Given the description of an element on the screen output the (x, y) to click on. 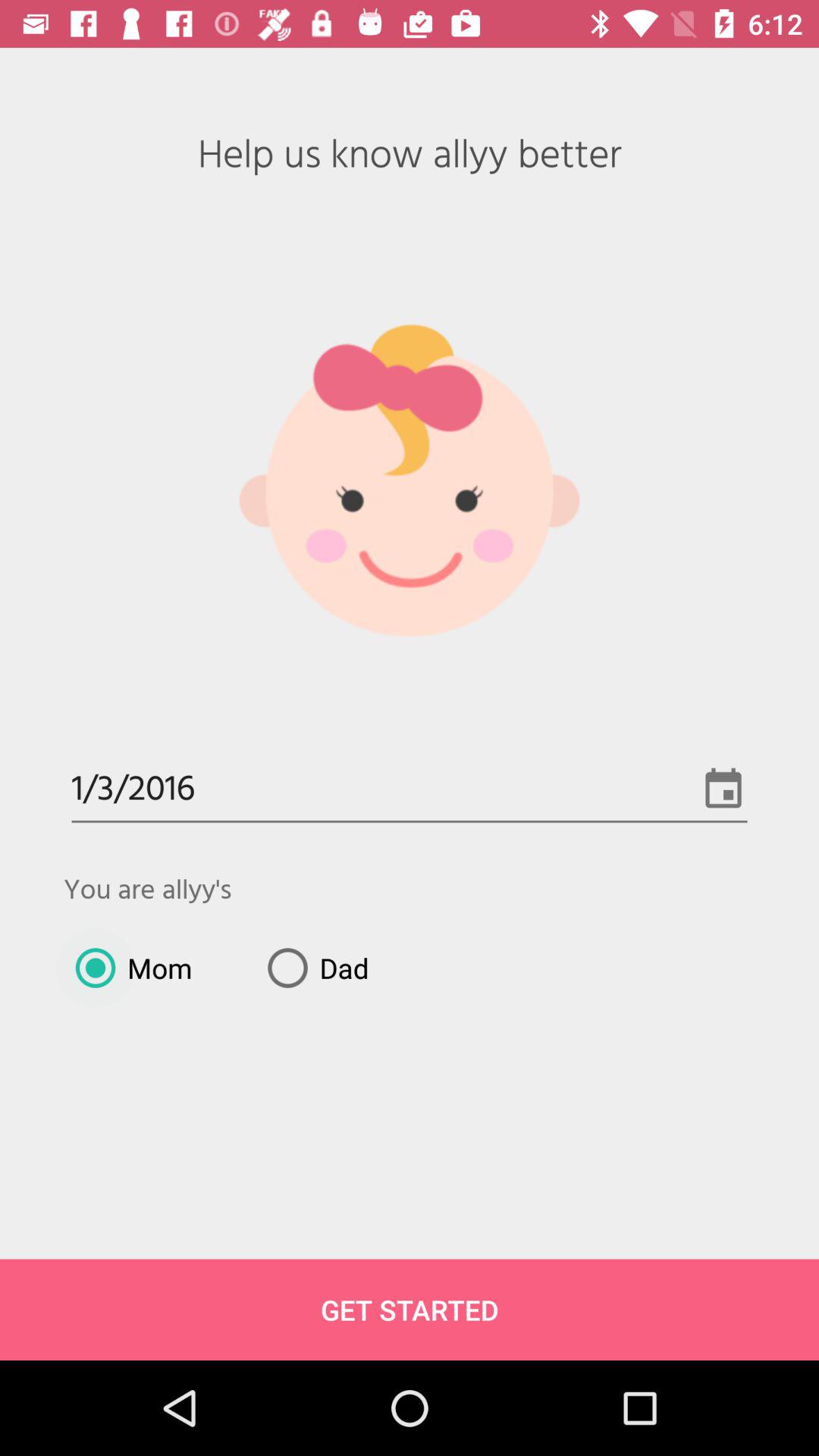
flip to the get started (409, 1309)
